Given the description of an element on the screen output the (x, y) to click on. 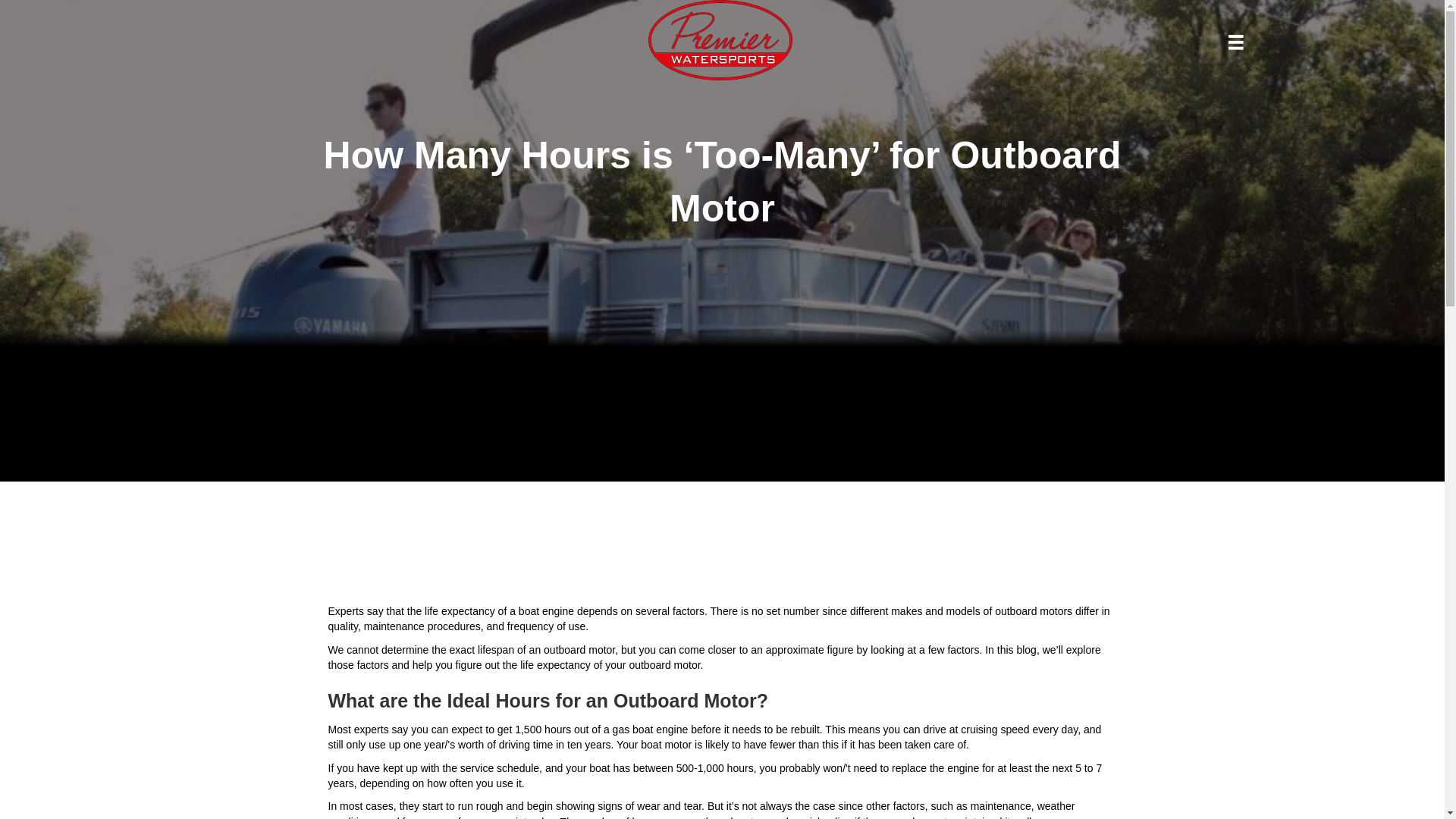
uabb-menu-toggle (1235, 42)
Premier Watersports Logo Red (719, 40)
